Given the description of an element on the screen output the (x, y) to click on. 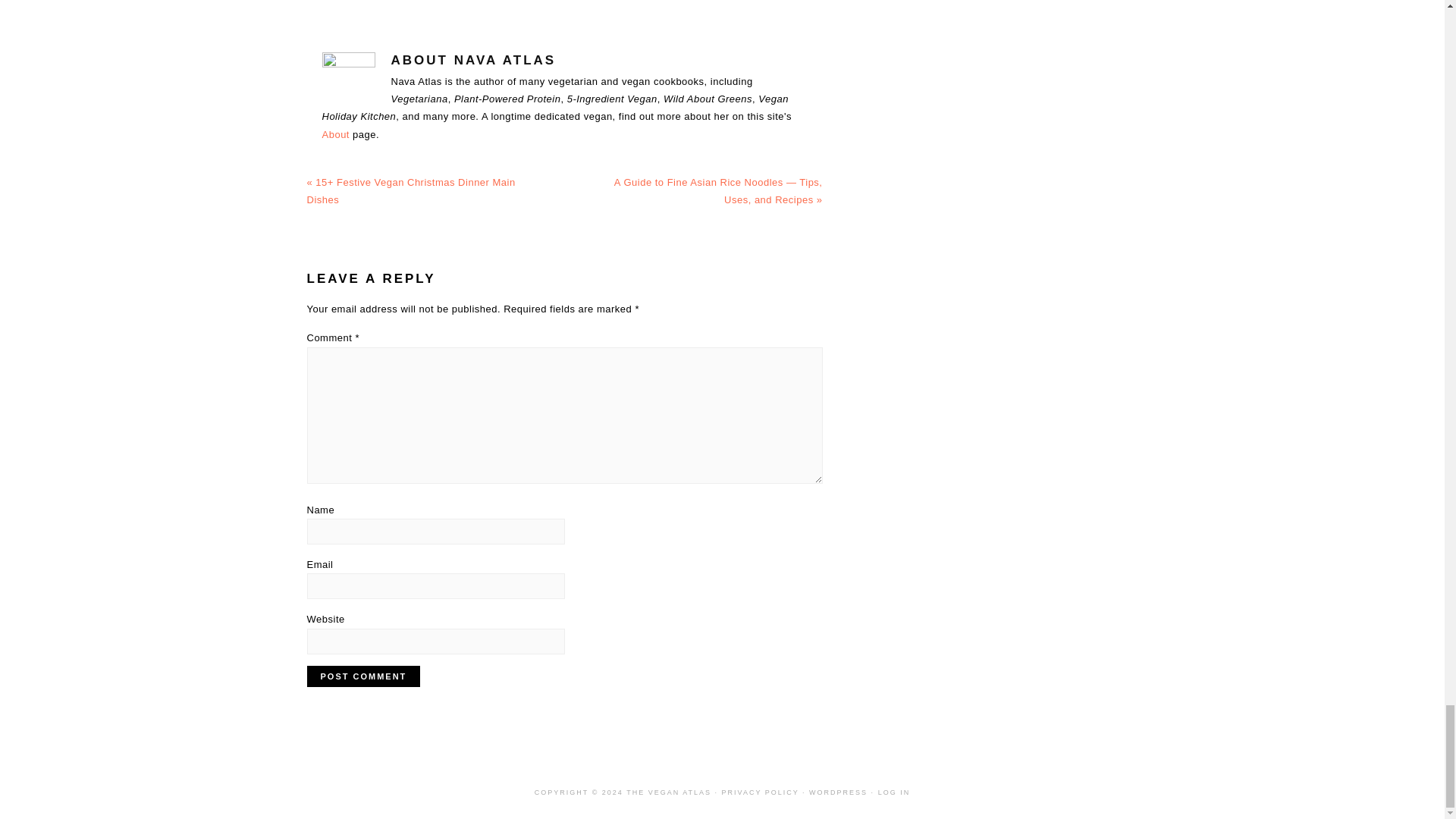
Post Comment (362, 676)
